Given the description of an element on the screen output the (x, y) to click on. 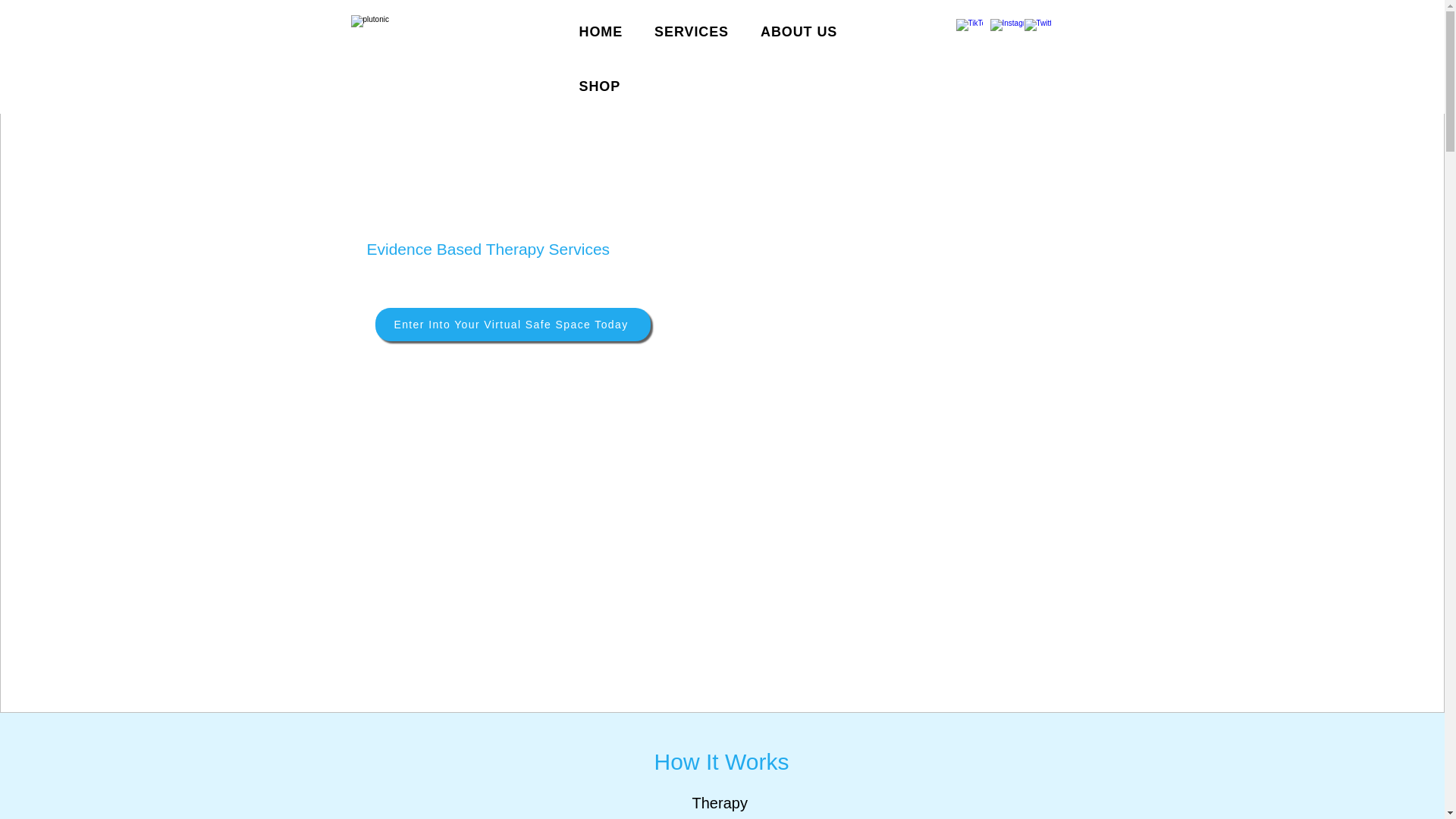
ABOUT US (798, 31)
Enter Into Your Virtual Safe Space Today (511, 324)
SERVICES (691, 31)
HOME (600, 31)
SHOP (600, 86)
